Given the description of an element on the screen output the (x, y) to click on. 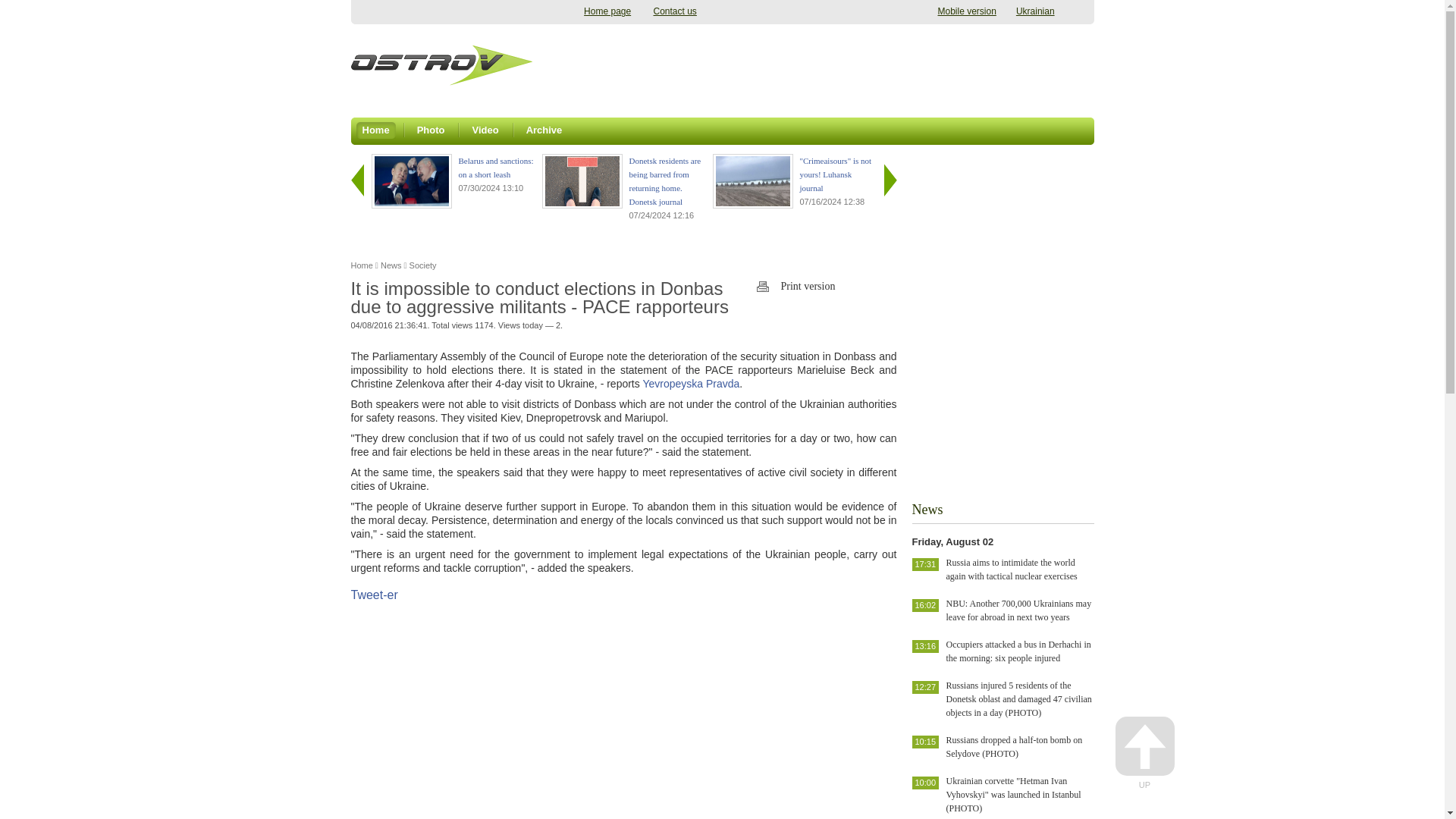
Contact us (675, 10)
Ukrainian (1035, 10)
News (390, 265)
News (390, 265)
Society (422, 265)
Video (484, 127)
Print version (826, 286)
Tweet-er (373, 594)
Mobile version (966, 10)
Yevropeyska Pravda (690, 383)
Photo (430, 127)
Home (376, 127)
Advertisement (816, 65)
